Given the description of an element on the screen output the (x, y) to click on. 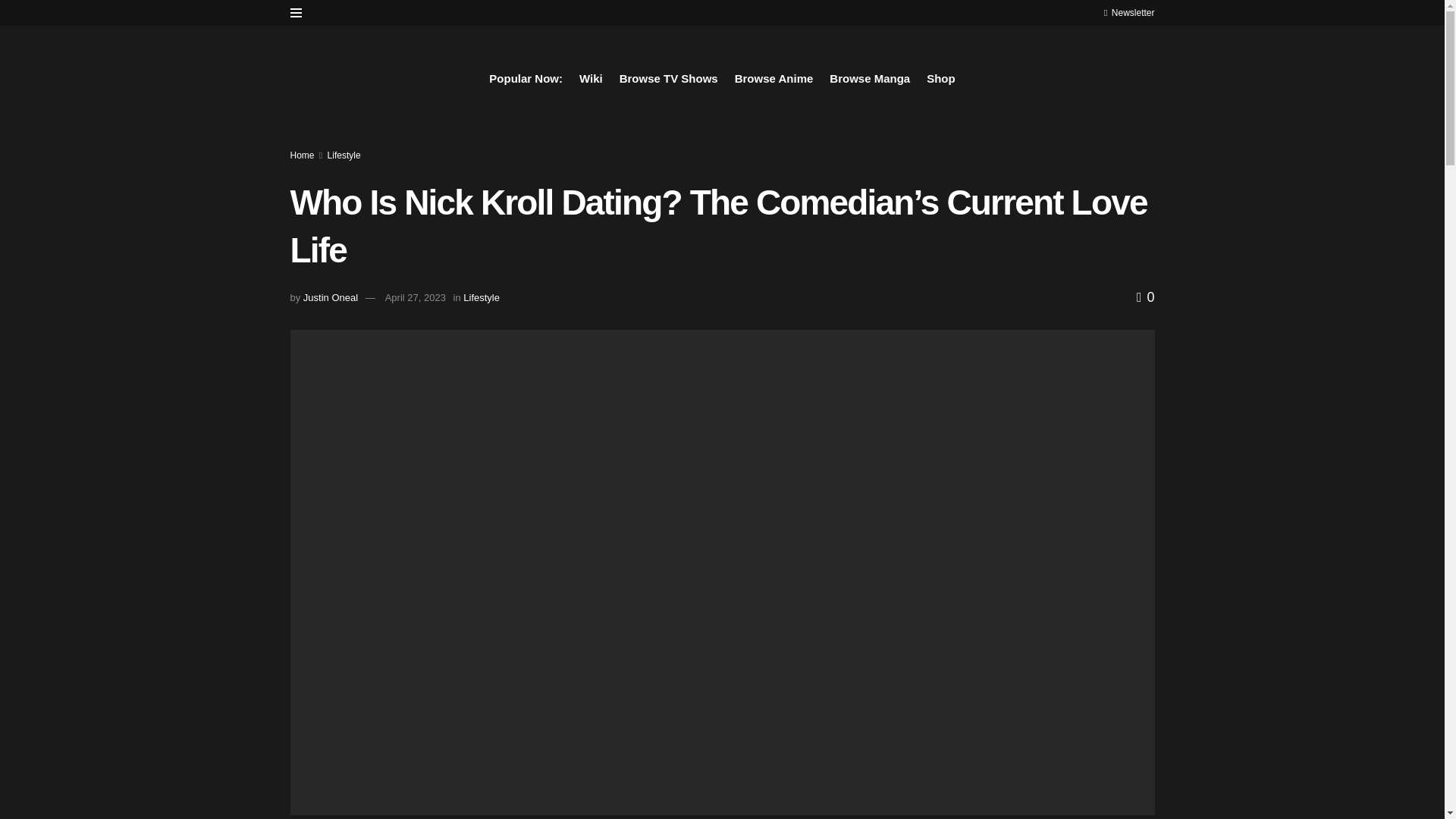
Lifestyle (481, 297)
Home (301, 154)
Browse Anime (774, 78)
Justin Oneal (330, 297)
Newsletter (1128, 12)
Browse TV Shows (668, 78)
0 (1145, 296)
Browse Manga (869, 78)
April 27, 2023 (415, 297)
Lifestyle (344, 154)
